Given the description of an element on the screen output the (x, y) to click on. 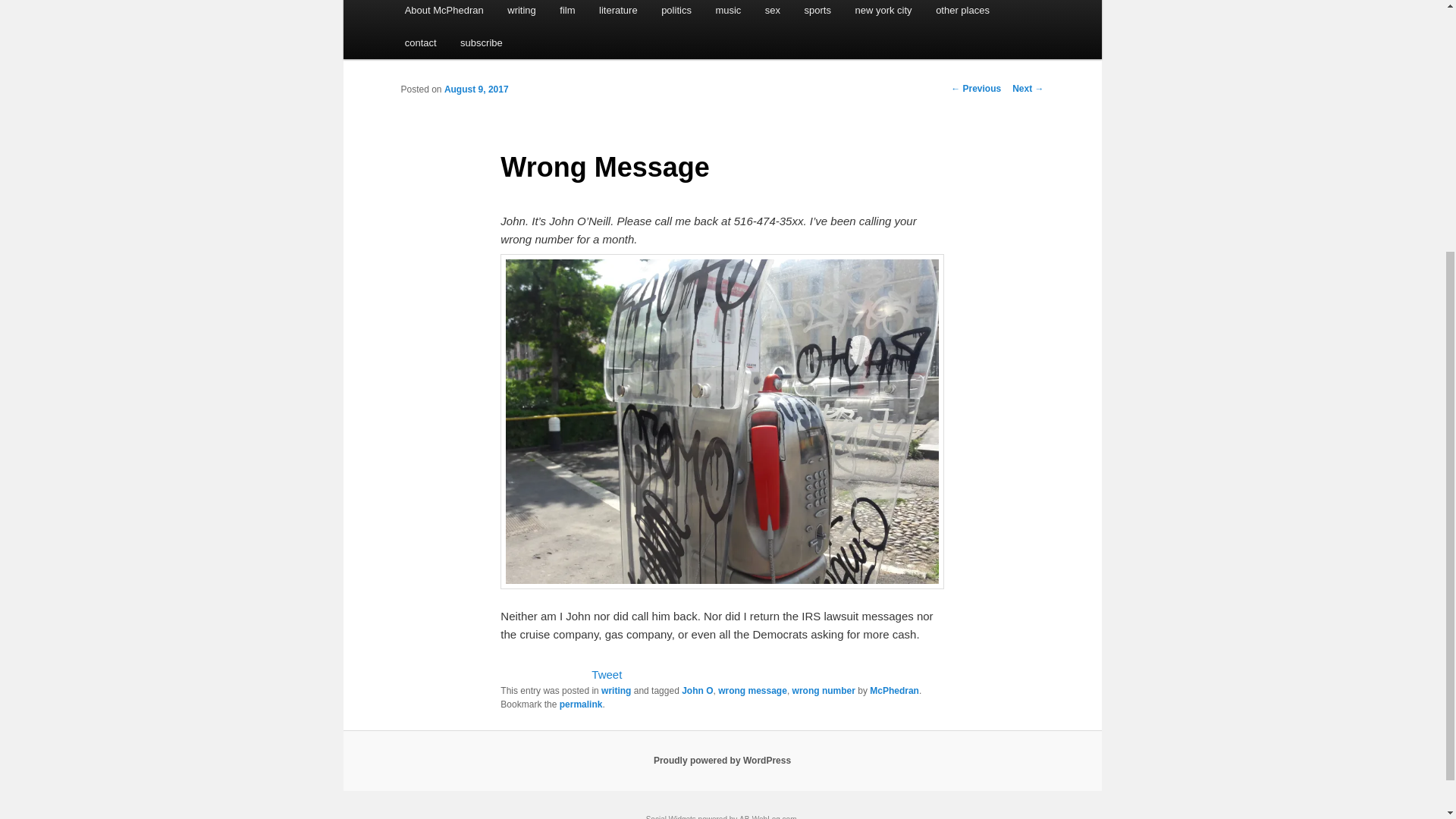
politics (676, 13)
music (727, 13)
contact (420, 42)
6:45 am (476, 89)
sex (772, 13)
Tweet (606, 674)
About McPhedran (444, 13)
sports (817, 13)
McPhedran (893, 690)
writing (522, 13)
wrong number (824, 690)
writing (615, 690)
August 9, 2017 (476, 89)
permalink (580, 704)
wrong message (752, 690)
